Given the description of an element on the screen output the (x, y) to click on. 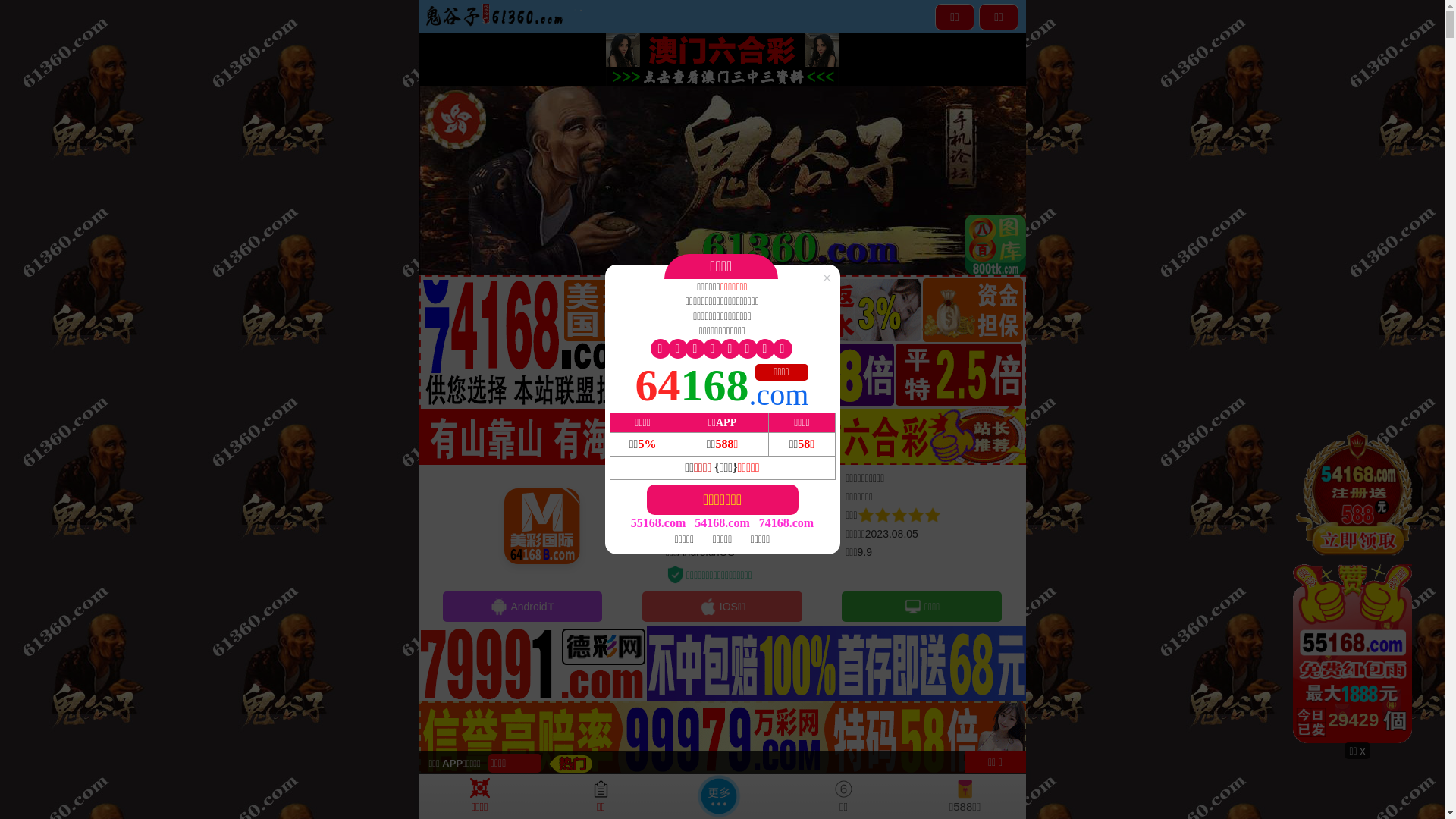
28885 Element type: text (1356, 585)
